Given the description of an element on the screen output the (x, y) to click on. 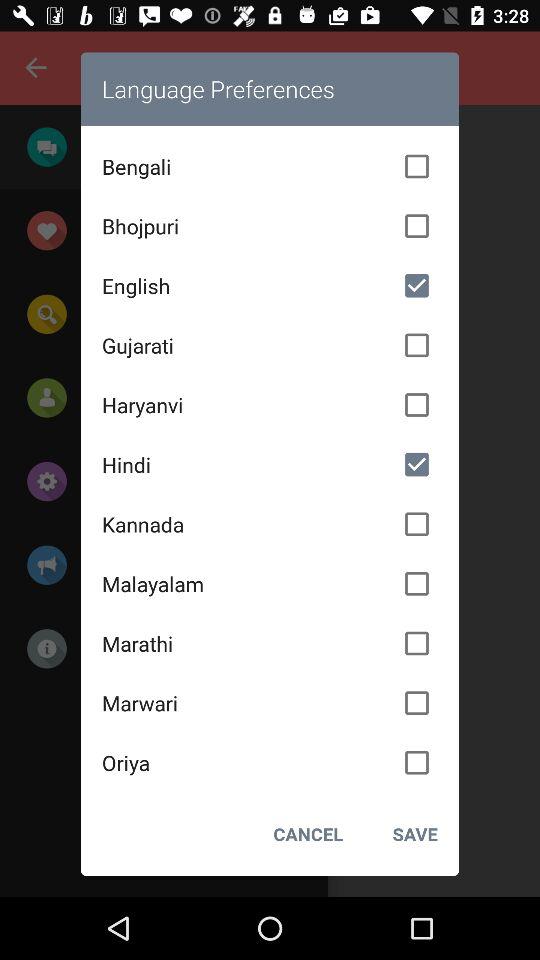
choose the icon below kannada (270, 583)
